Given the description of an element on the screen output the (x, y) to click on. 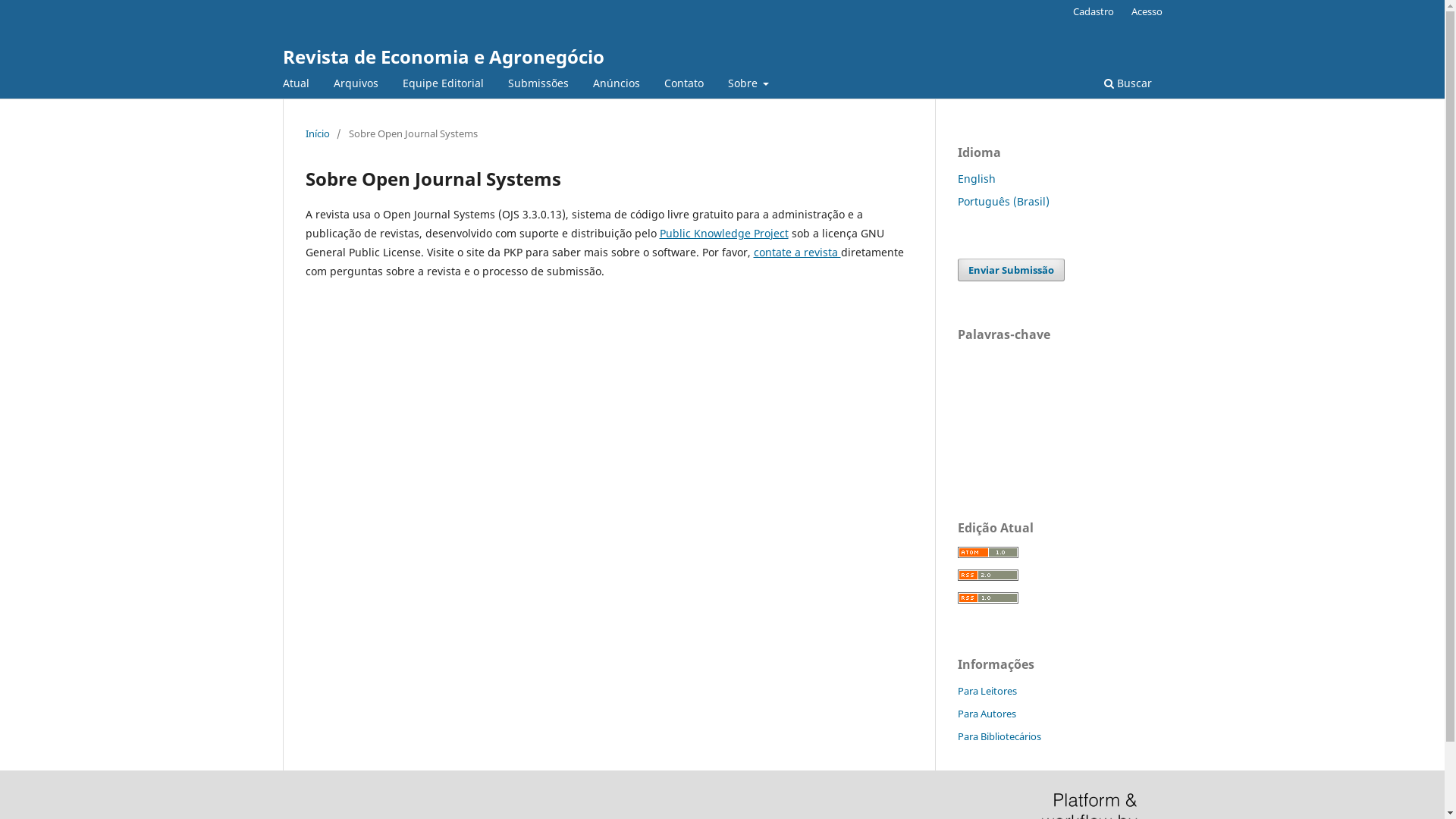
Atual Element type: text (295, 85)
Para Autores Element type: text (986, 713)
Buscar Element type: text (1127, 85)
Arquivos Element type: text (354, 85)
Contato Element type: text (683, 85)
Sobre Element type: text (747, 85)
Acesso Element type: text (1146, 11)
contate a revista Element type: text (796, 251)
Para Leitores Element type: text (986, 690)
Equipe Editorial Element type: text (443, 85)
Public Knowledge Project Element type: text (723, 232)
English Element type: text (975, 178)
Cadastro Element type: text (1093, 11)
